Given the description of an element on the screen output the (x, y) to click on. 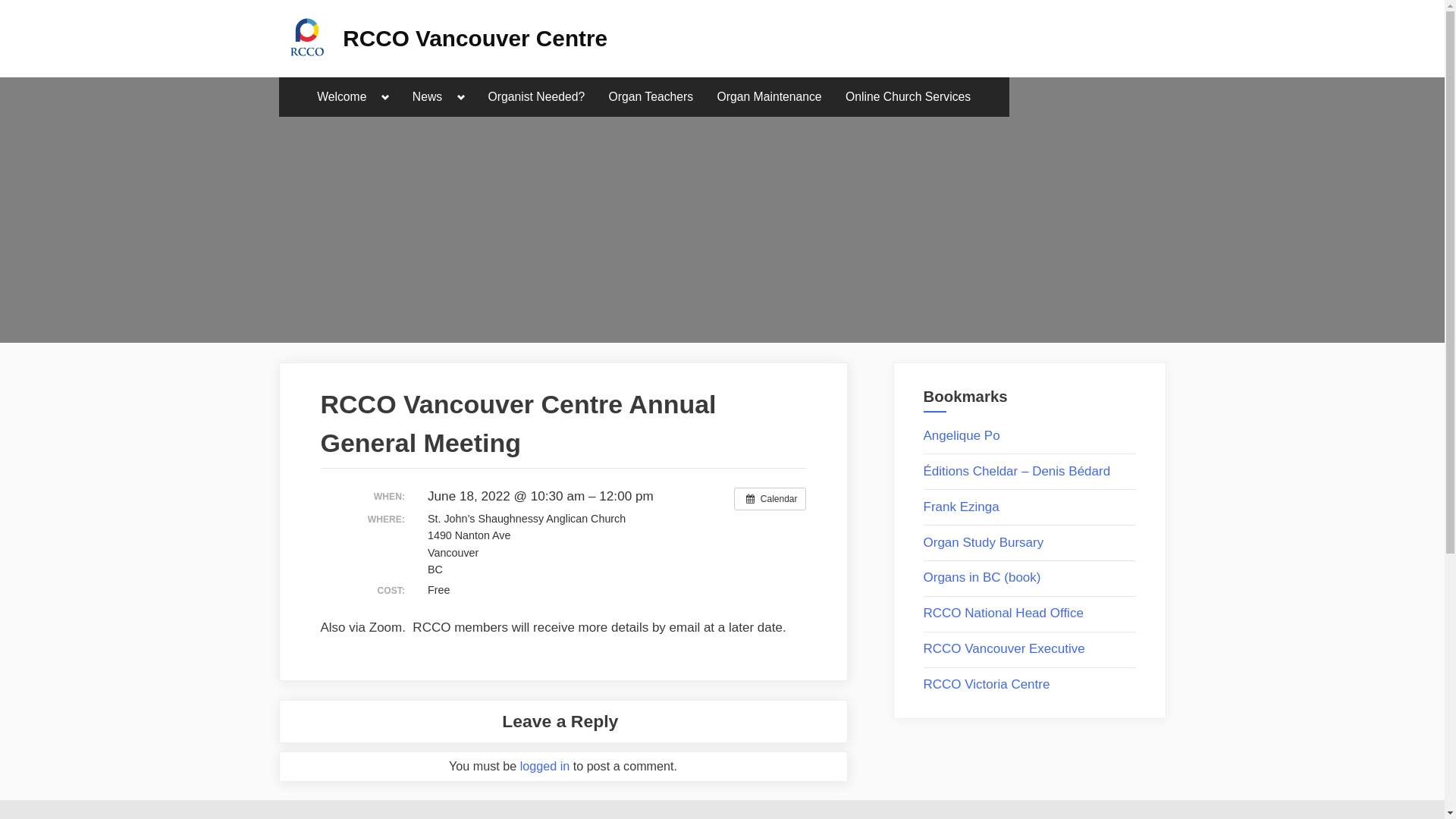
Organs in BC (book) Element type: text (982, 577)
Welcome Element type: text (341, 96)
Organ Maintenance Element type: text (769, 96)
logged in Element type: text (545, 765)
Angelique Po Element type: text (961, 435)
RCCO National Head Office Element type: text (1003, 612)
Organ Teachers Element type: text (651, 96)
Organ Study Bursary Element type: text (983, 542)
Calendar Element type: text (769, 498)
RCCO Vancouver Executive Element type: text (1004, 648)
Toggle sub-menu Element type: text (385, 97)
Frank Ezinga Element type: text (961, 506)
Online Church Services Element type: text (908, 96)
Toggle sub-menu Element type: text (461, 97)
Organist Needed? Element type: text (536, 96)
News Element type: text (427, 96)
RCCO Vancouver Centre Element type: text (474, 37)
RCCO Victoria Centre Element type: text (986, 684)
